Given the description of an element on the screen output the (x, y) to click on. 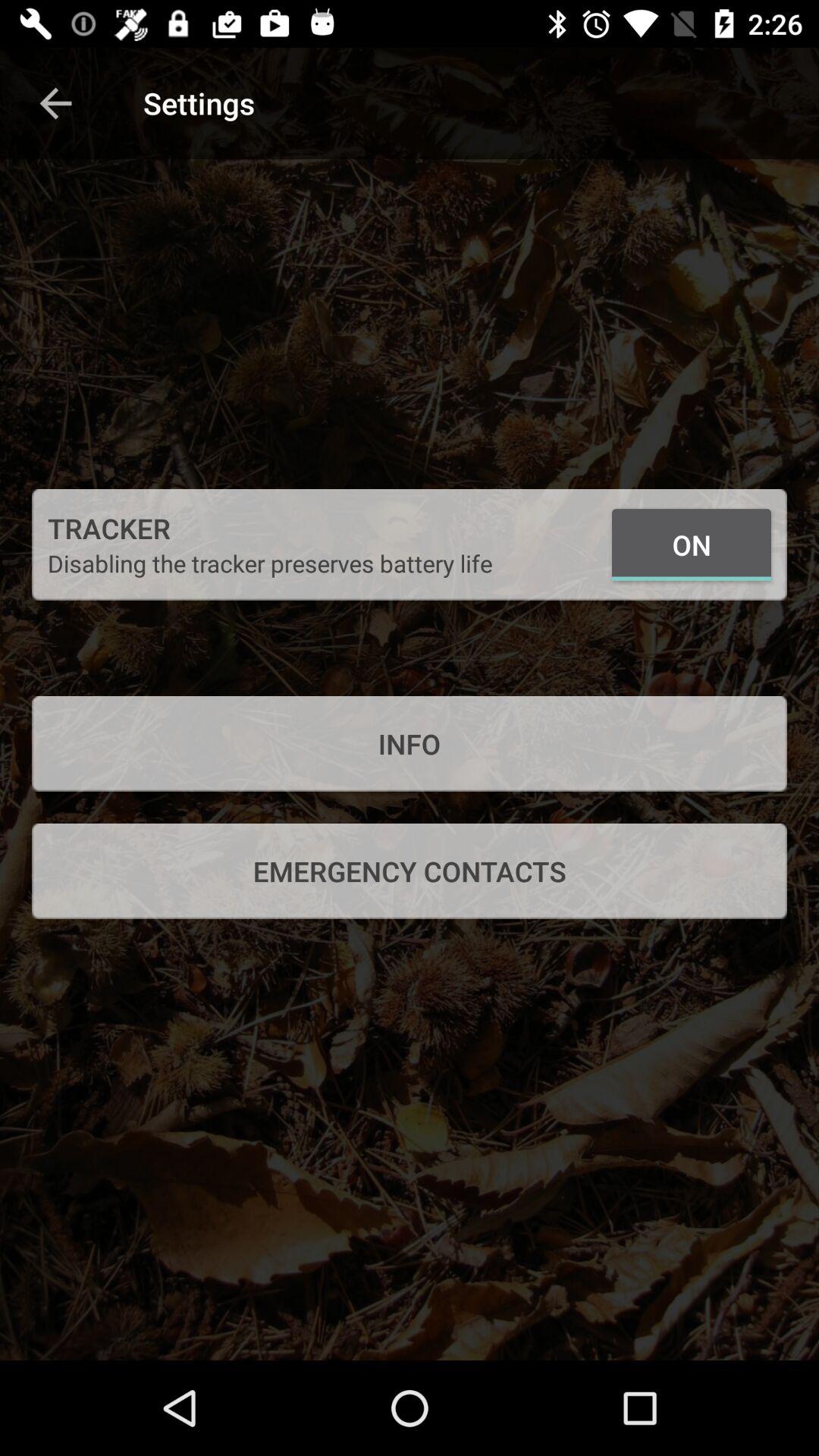
turn off the item to the left of settings (55, 103)
